Given the description of an element on the screen output the (x, y) to click on. 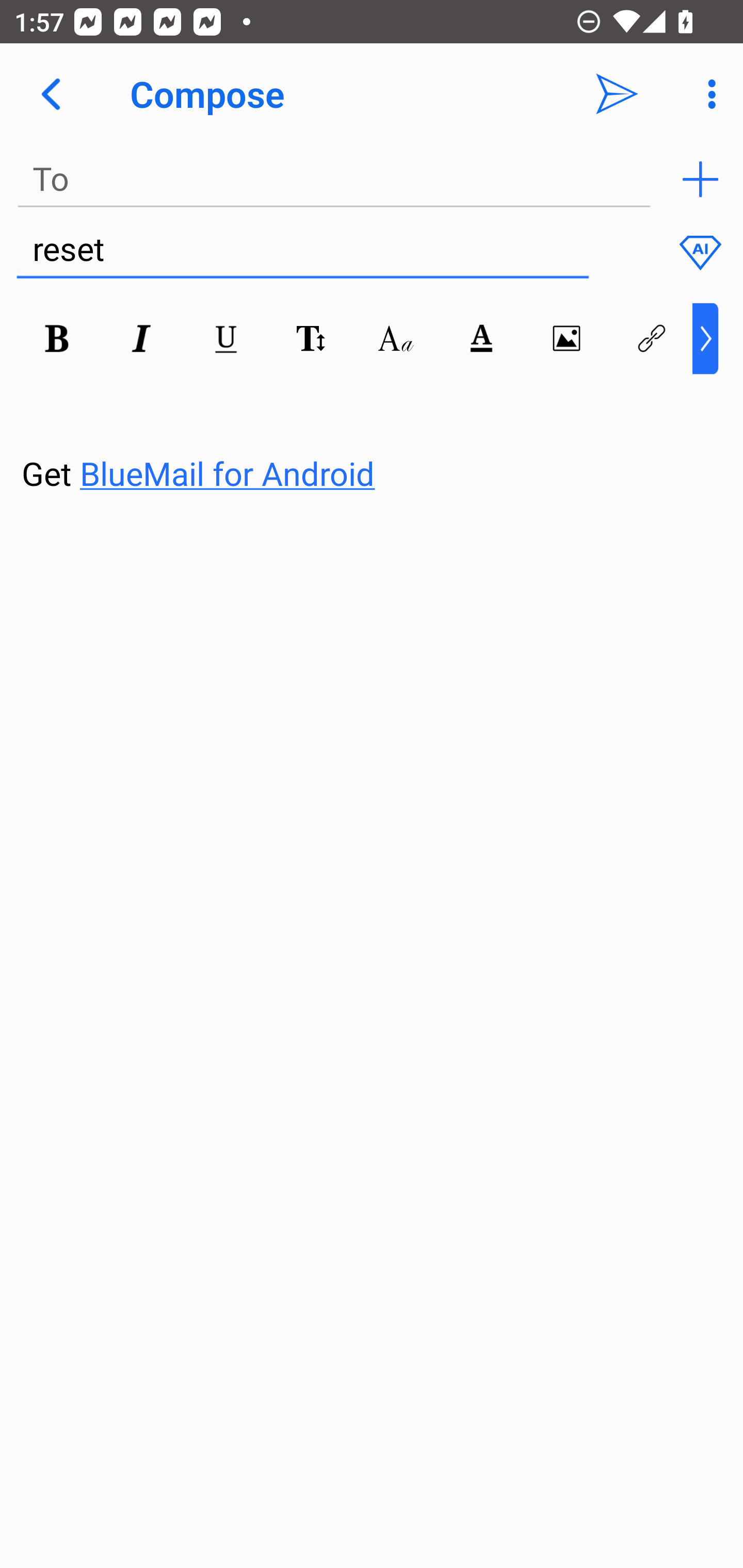
Navigate up (50, 93)
Send (616, 93)
More Options (706, 93)
To (334, 179)
Add recipient (To) (699, 179)
reset (302, 249)


⁣Get BlueMail for Android ​ (355, 435)
